Given the description of an element on the screen output the (x, y) to click on. 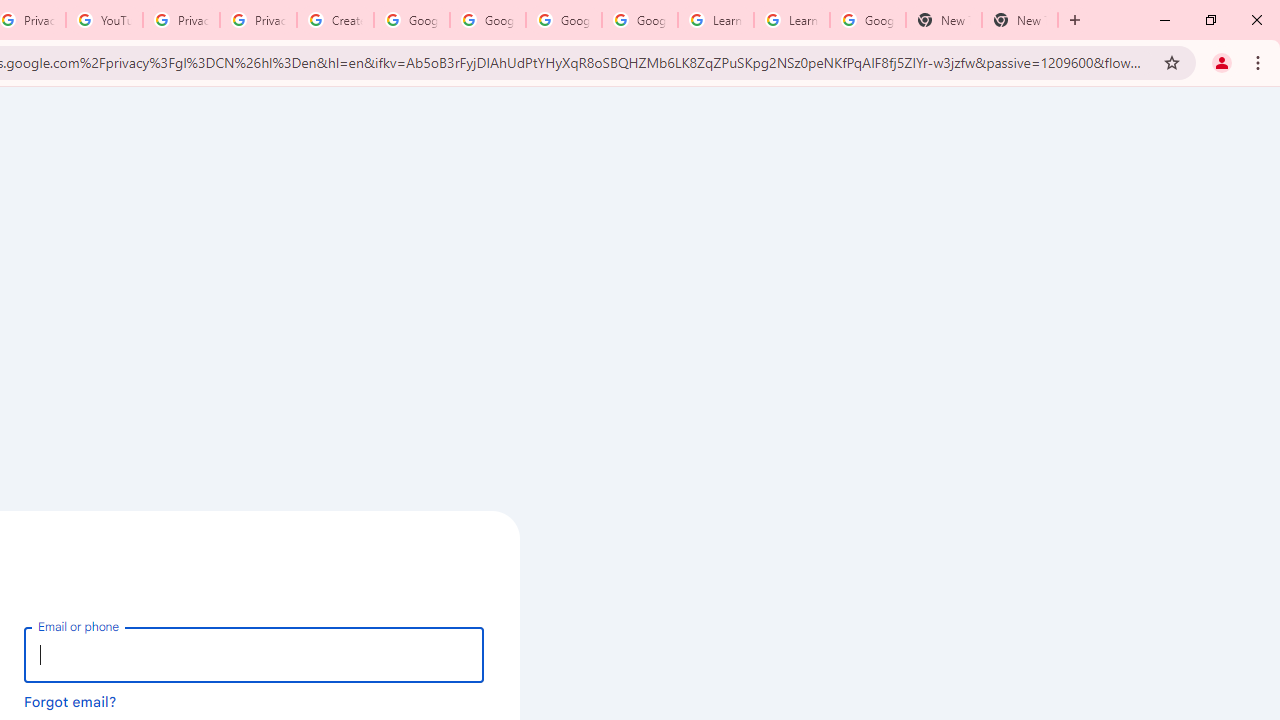
YouTube (104, 20)
New Tab (1019, 20)
Google Account (867, 20)
New Tab (943, 20)
